Given the description of an element on the screen output the (x, y) to click on. 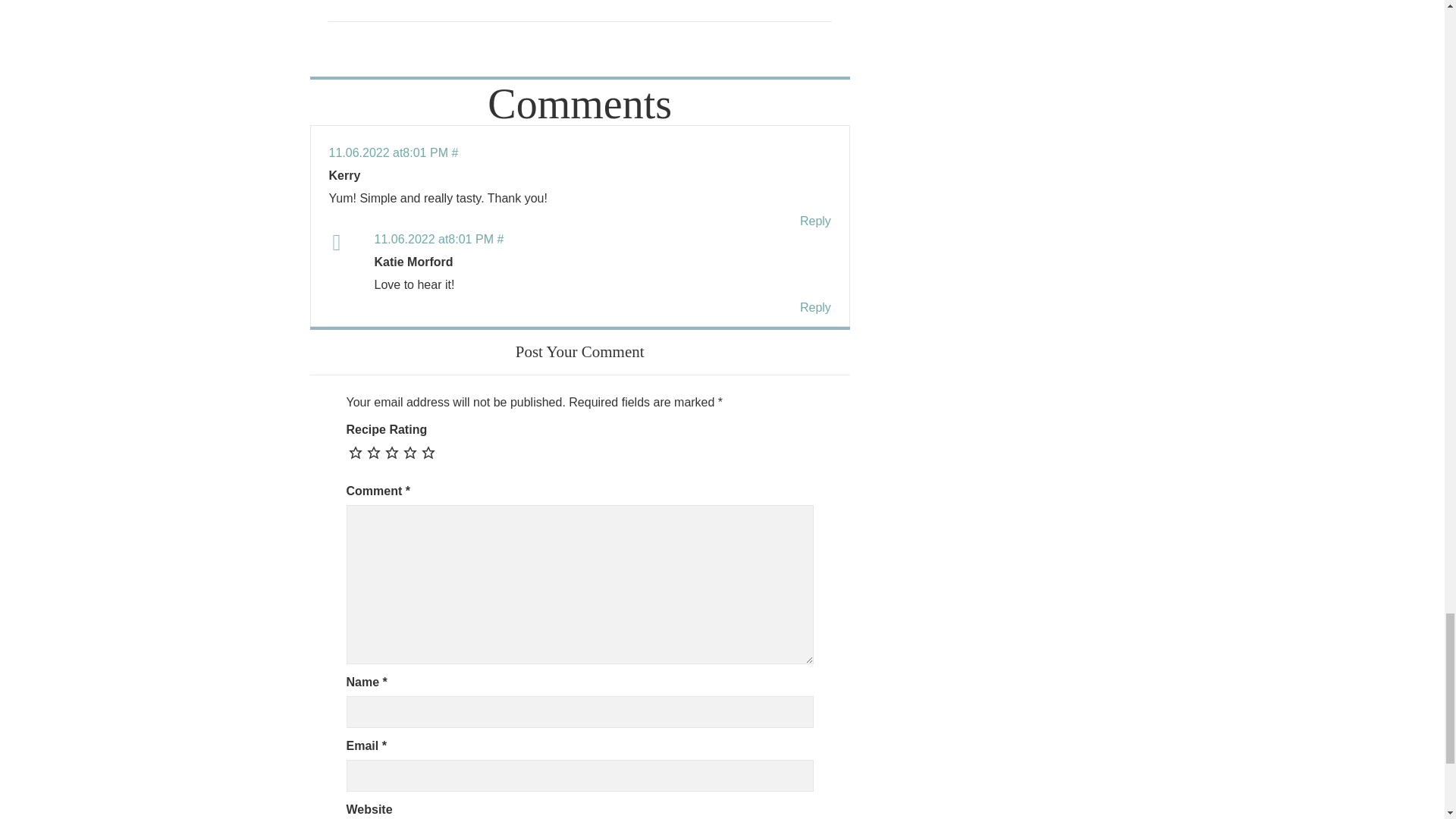
Direct link to this comment (438, 238)
Reply (815, 220)
Direct link to this comment (393, 152)
Reply (815, 307)
